Given the description of an element on the screen output the (x, y) to click on. 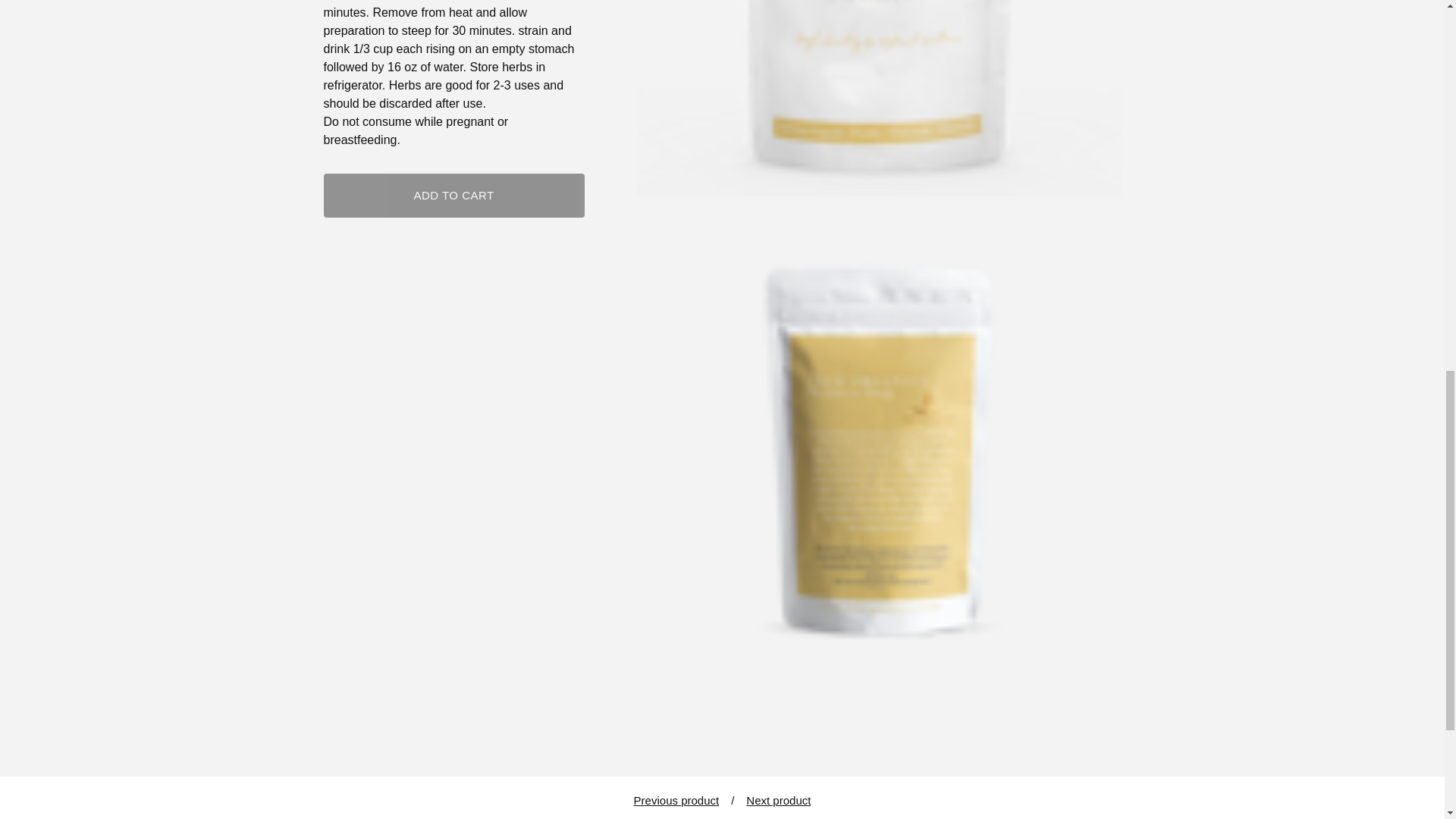
Previous product (676, 800)
ADD TO CART (453, 195)
View Previous product (676, 800)
View Next product (777, 800)
Next product (777, 800)
